Given the description of an element on the screen output the (x, y) to click on. 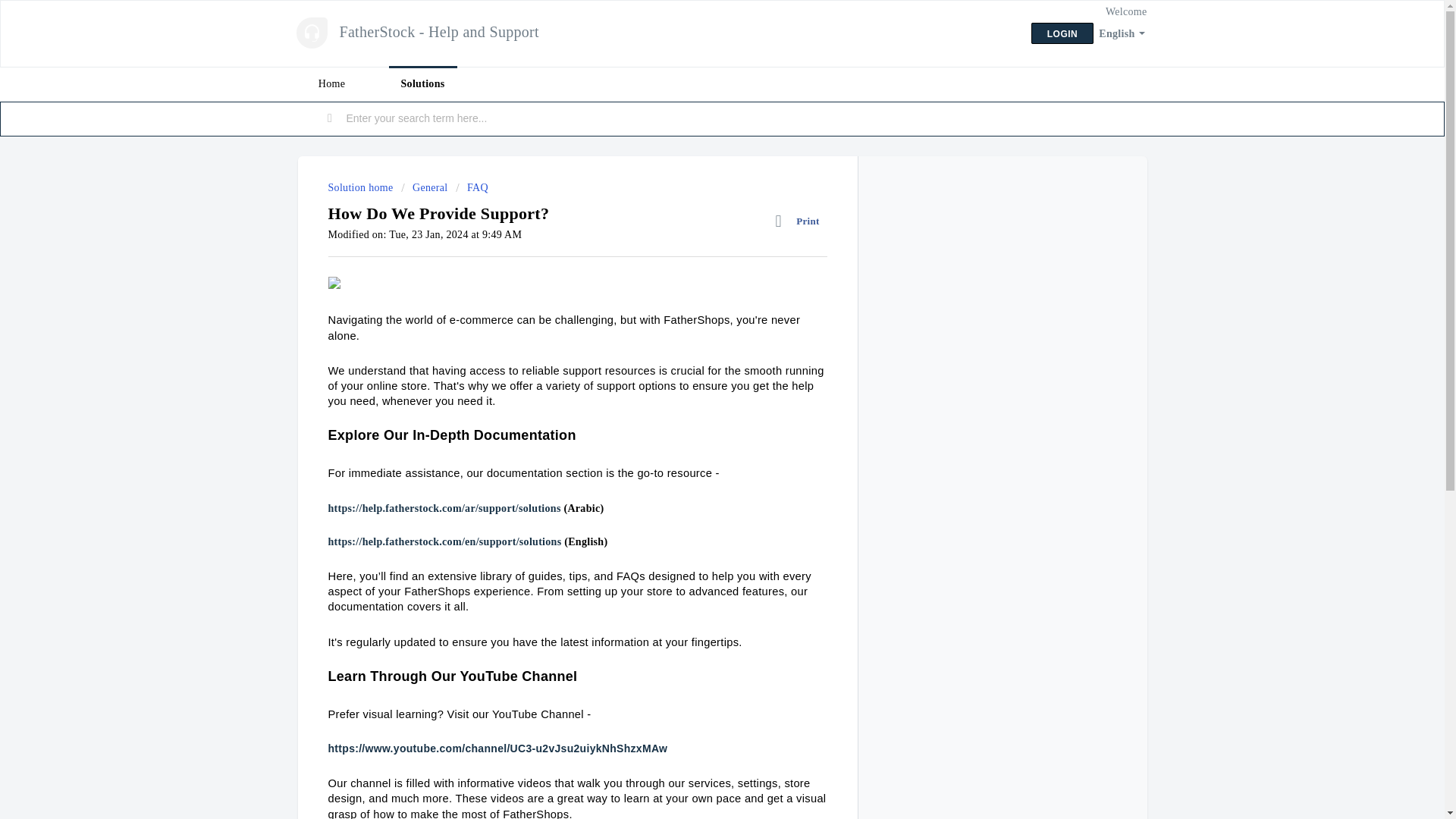
General (423, 187)
New support ticket (774, 117)
Print (800, 220)
FAQ (471, 187)
LOGIN (1062, 33)
New Support Ticket (774, 117)
Home (331, 83)
Check ticket status (906, 117)
Solution home (361, 187)
Solutions (422, 83)
Check Ticket Status (906, 117)
Print this Article (800, 220)
